Given the description of an element on the screen output the (x, y) to click on. 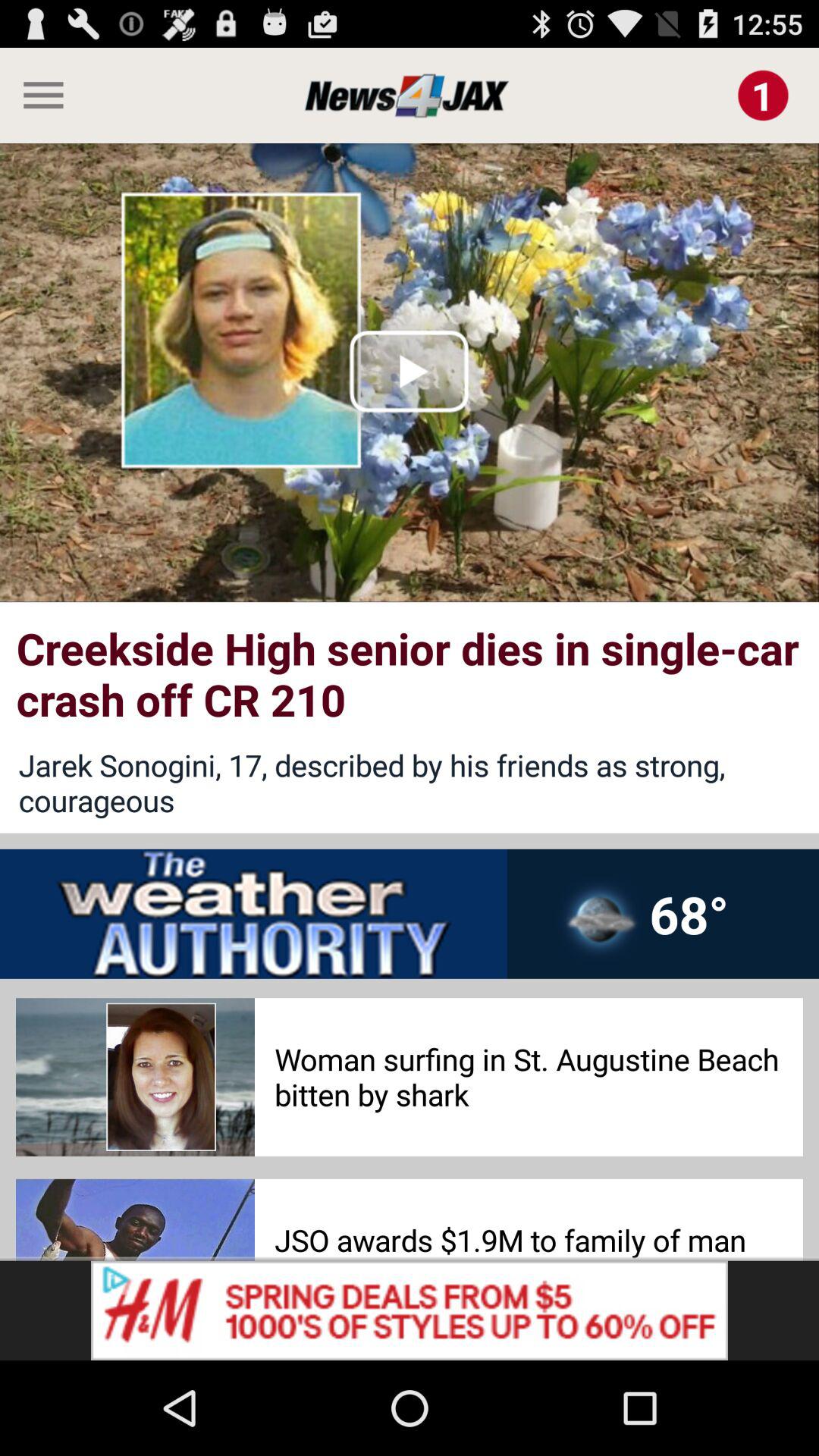
open advertisement (409, 1310)
